Given the description of an element on the screen output the (x, y) to click on. 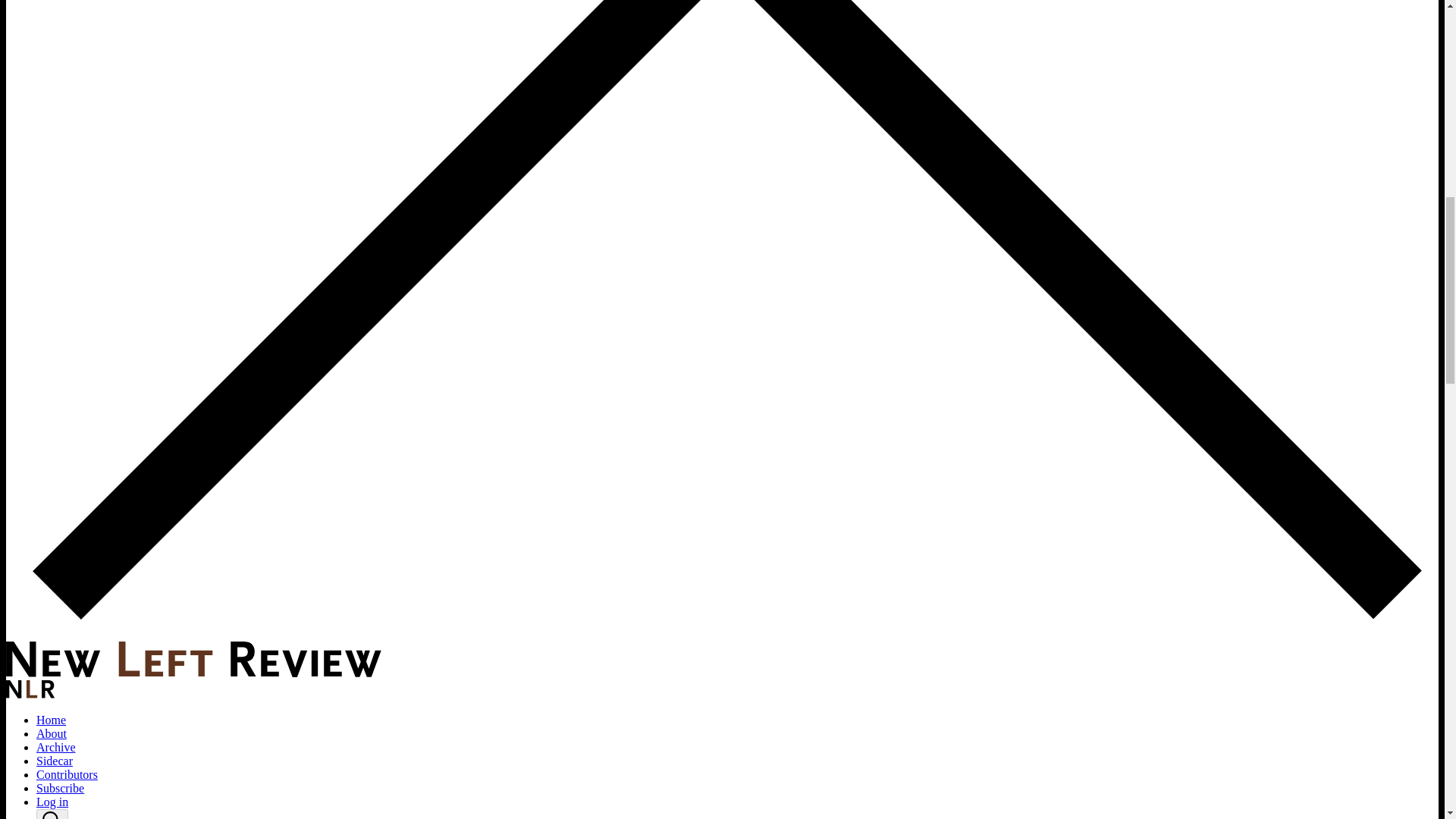
Home (50, 719)
Sidecar (54, 760)
Log in (52, 801)
Archive (55, 747)
Subscribe (60, 788)
Contributors (66, 774)
New Left Review (193, 672)
About (51, 733)
New Left Review (193, 659)
